Given the description of an element on the screen output the (x, y) to click on. 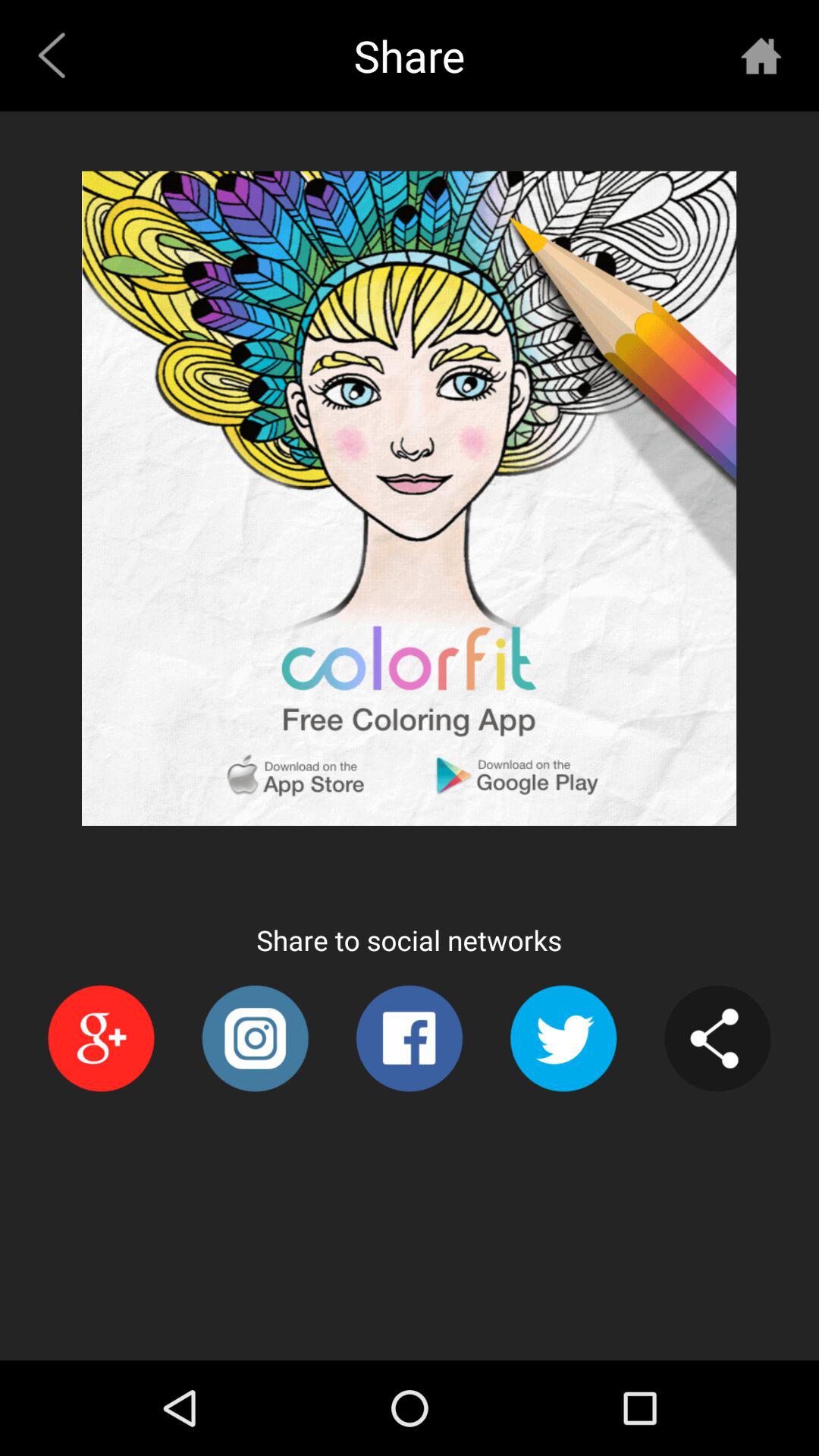
turn off item next to share (57, 55)
